Given the description of an element on the screen output the (x, y) to click on. 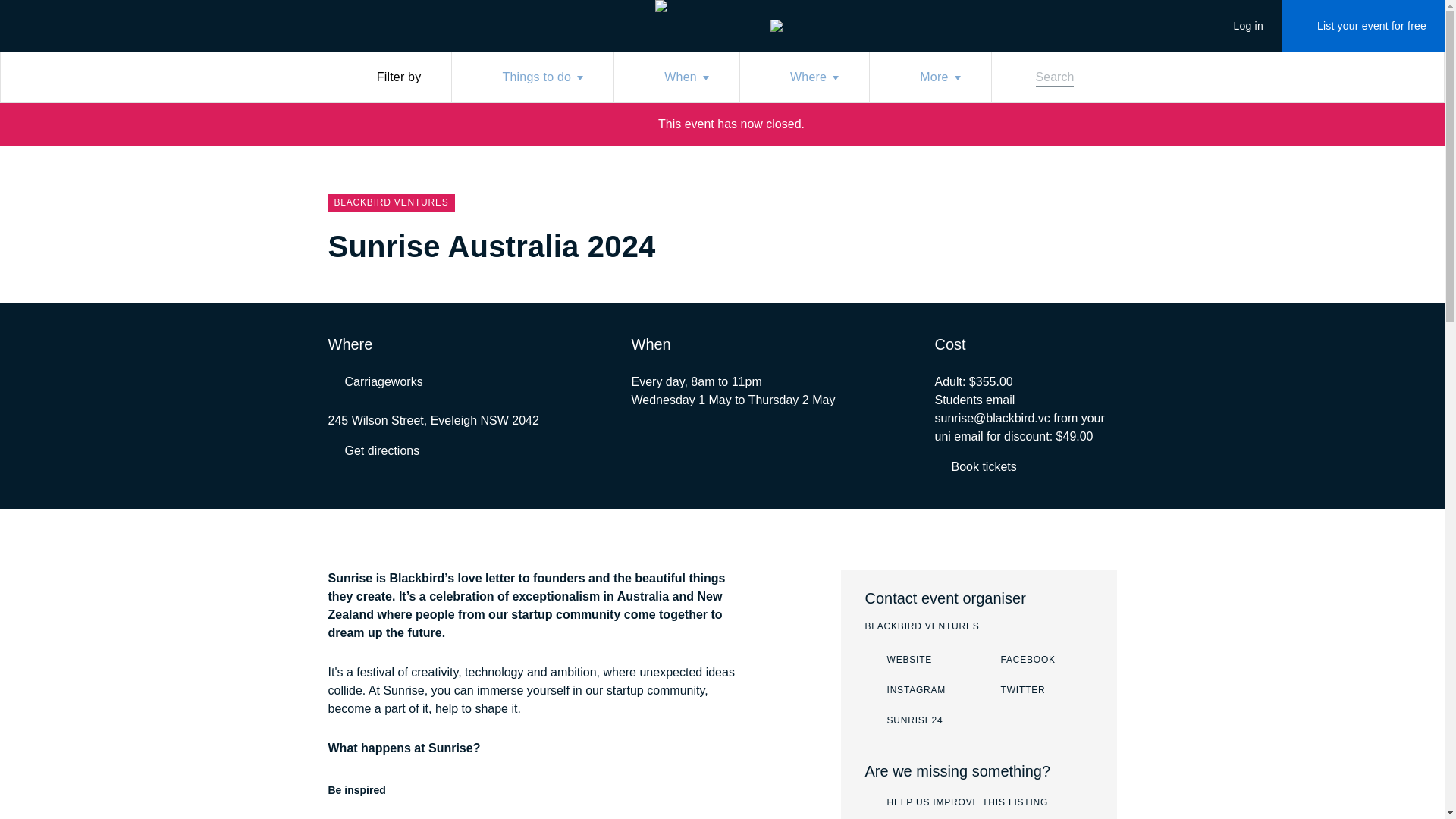
Where (804, 77)
When (676, 77)
Things to do (1239, 25)
Copy this link (975, 466)
When (531, 77)
Copy this link (904, 690)
